Given the description of an element on the screen output the (x, y) to click on. 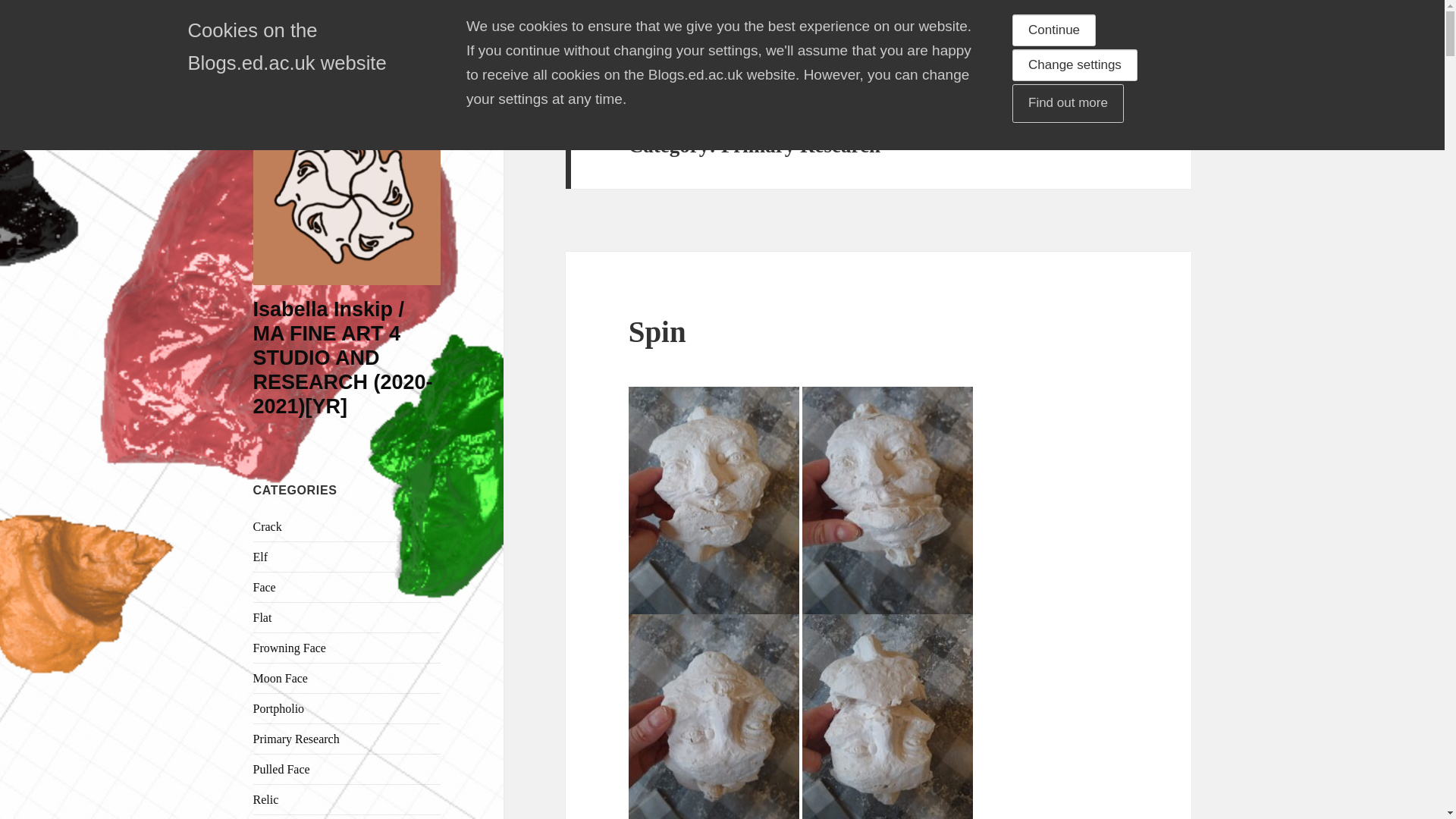
Face (264, 586)
Elf (260, 556)
Primary Research (296, 738)
Pulled Face (281, 768)
Flat (262, 617)
Change settings (1074, 65)
Continue (1053, 29)
Frowning Face (289, 647)
Find out more (1067, 103)
Moon Face (280, 677)
Crack (267, 526)
Portpholio (278, 707)
Relic (266, 799)
